Given the description of an element on the screen output the (x, y) to click on. 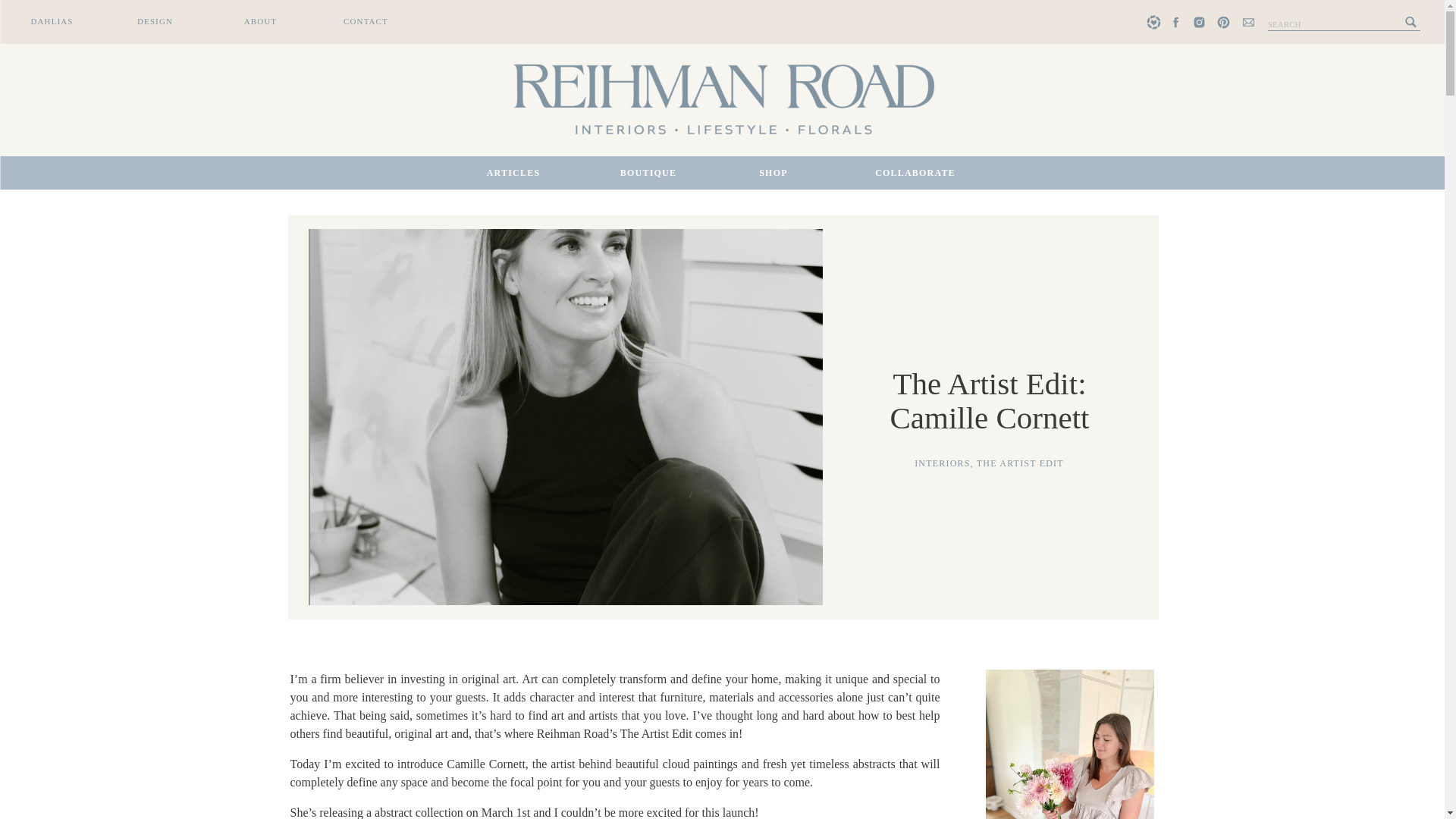
ABOUT (260, 21)
DESIGN (154, 21)
THE ARTIST EDIT (1020, 462)
INTERIORS (941, 462)
ARTICLES (512, 173)
SHOP (773, 173)
CONTACT (365, 21)
DAHLIAS (51, 21)
BOUTIQUE (647, 173)
COLLABORATE (915, 173)
